Given the description of an element on the screen output the (x, y) to click on. 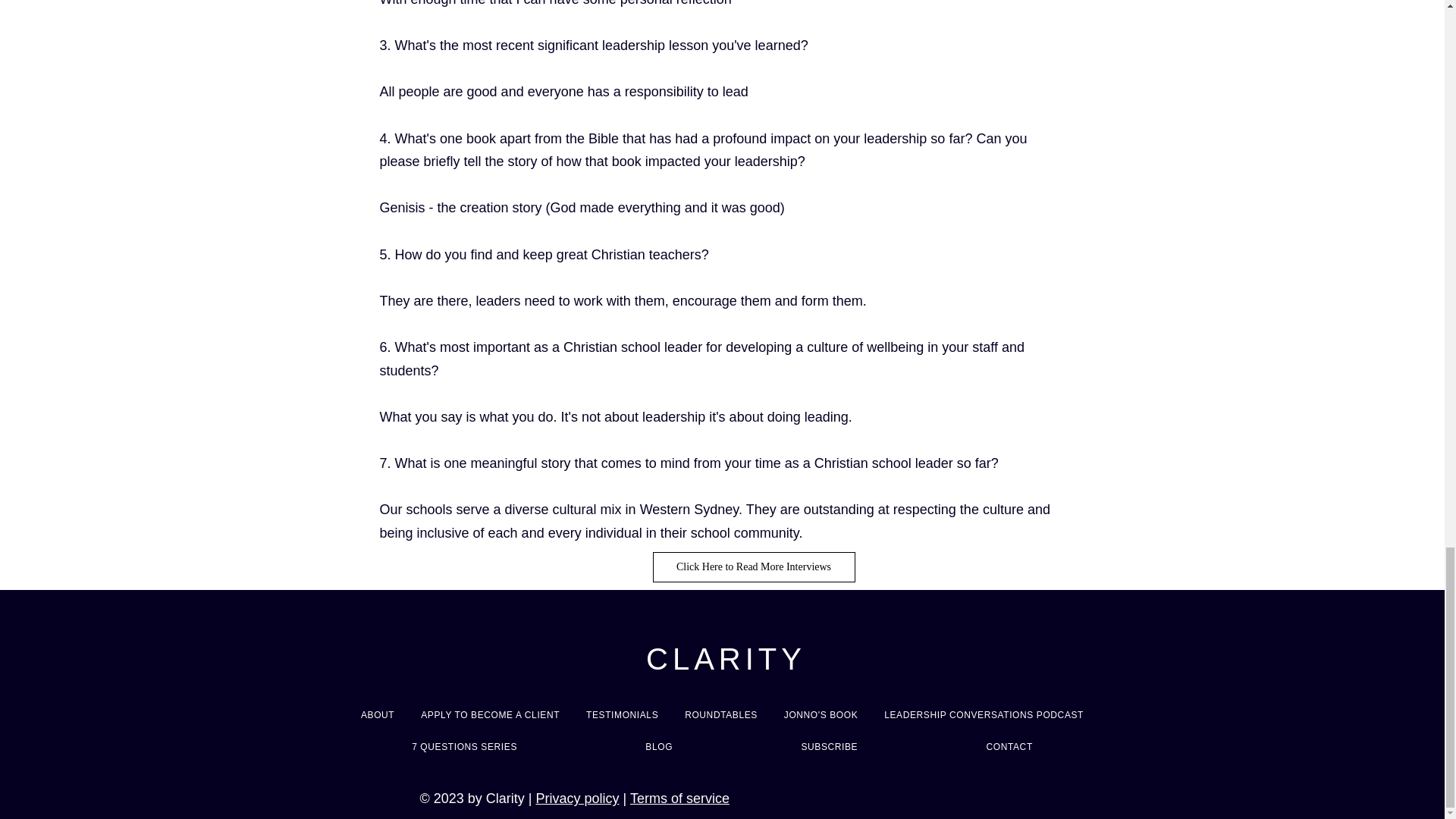
CONTACT (1009, 746)
BLOG (659, 746)
7 QUESTIONS SERIES (464, 746)
ABOUT (377, 714)
SUBSCRIBE (828, 746)
LEADERSHIP CONVERSATIONS PODCAST (984, 714)
Privacy policy (576, 798)
TESTIMONIALS (622, 714)
ROUNDTABLES (721, 714)
APPLY TO BECOME A CLIENT (490, 714)
Terms of service (679, 798)
JONNO'S BOOK (820, 714)
Click Here to Read More Interviews (753, 567)
CLARITY (726, 658)
